Given the description of an element on the screen output the (x, y) to click on. 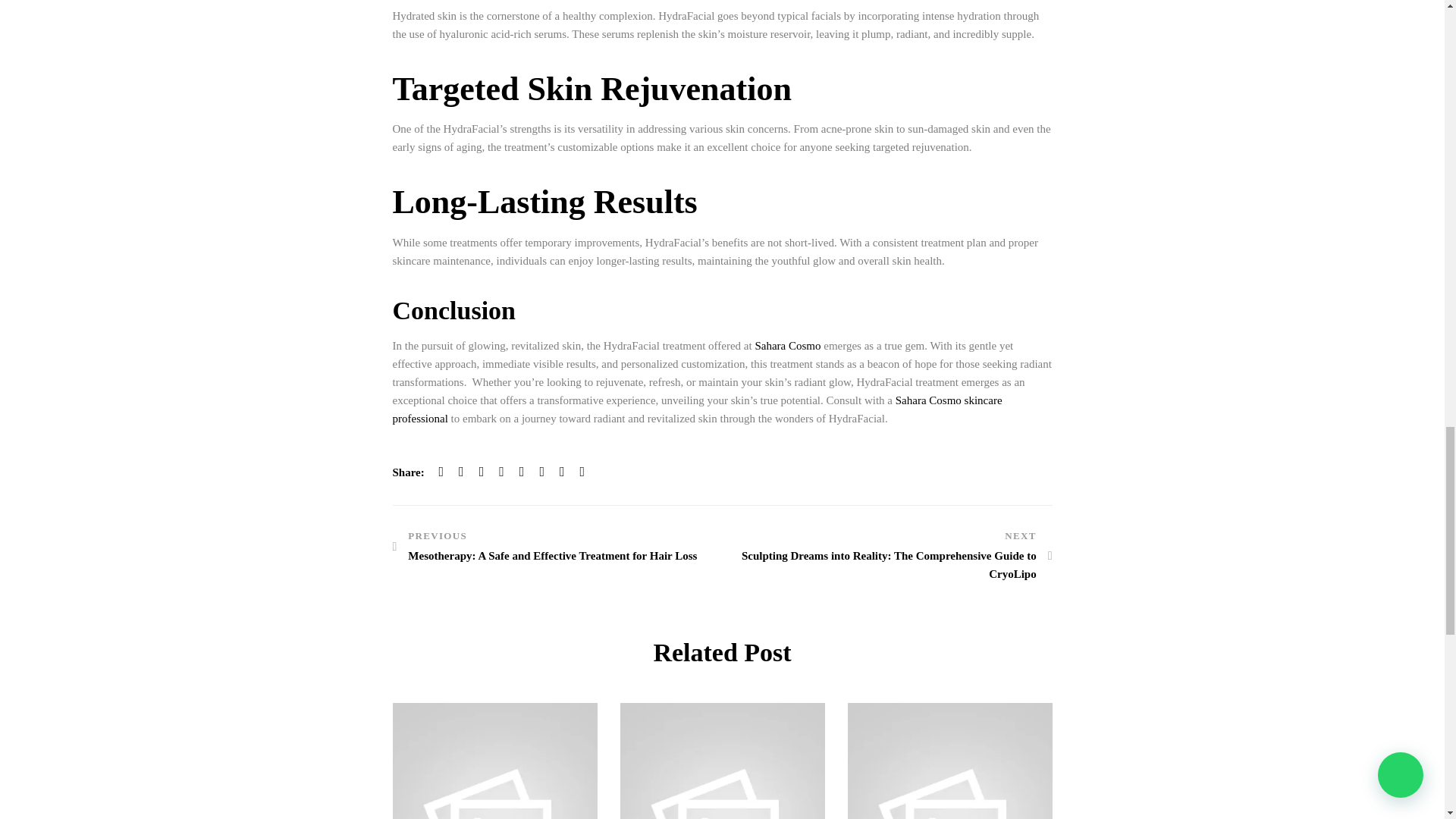
Sahara Cosmo skincare professional (698, 409)
Sahara Cosmo (787, 345)
